Given the description of an element on the screen output the (x, y) to click on. 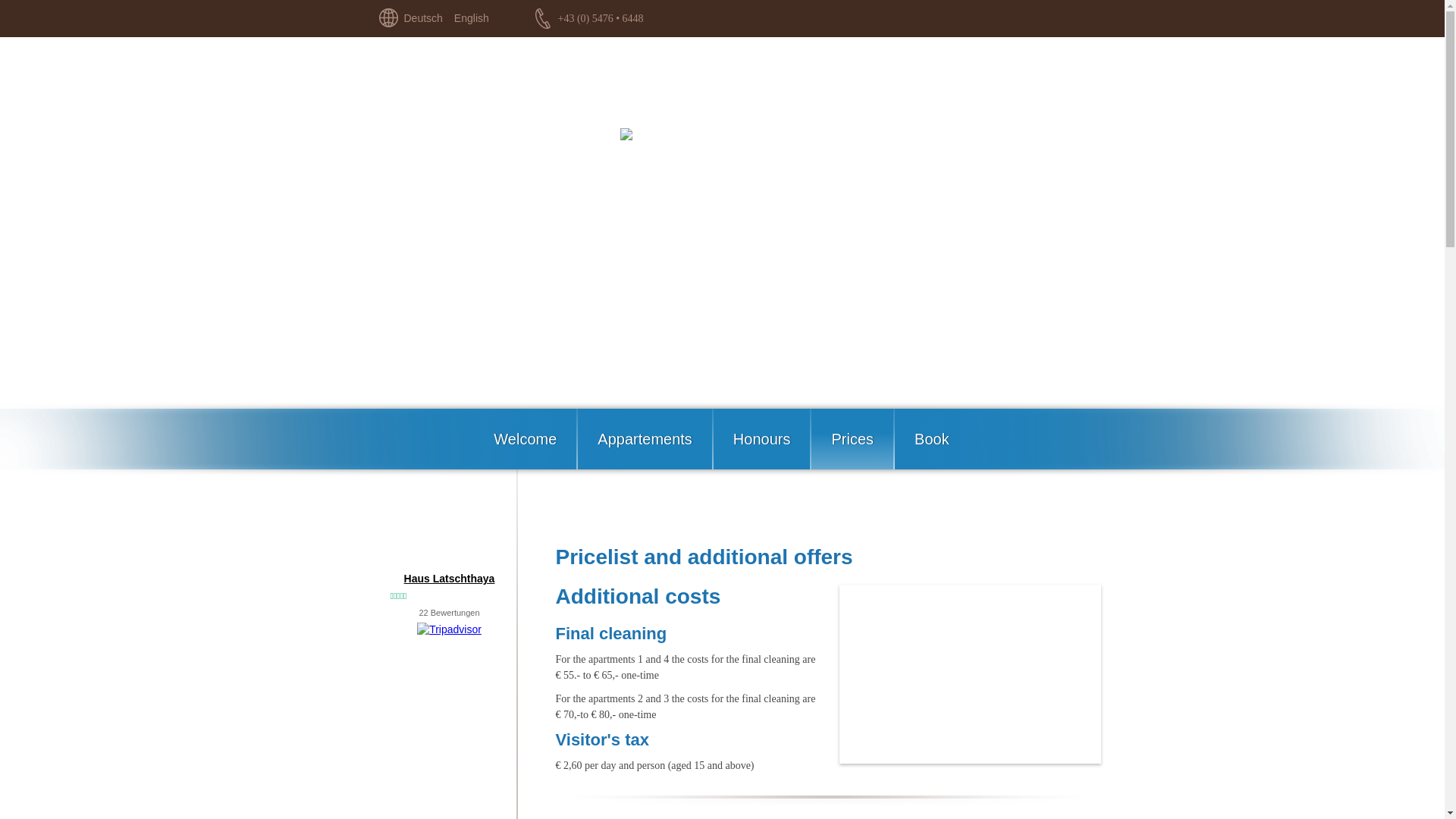
Book (933, 438)
Appartements (645, 438)
Prices (852, 438)
English (471, 18)
Deutsch (422, 18)
Welcome (526, 438)
Honours (762, 438)
Haus Latschthaya (449, 578)
